Given the description of an element on the screen output the (x, y) to click on. 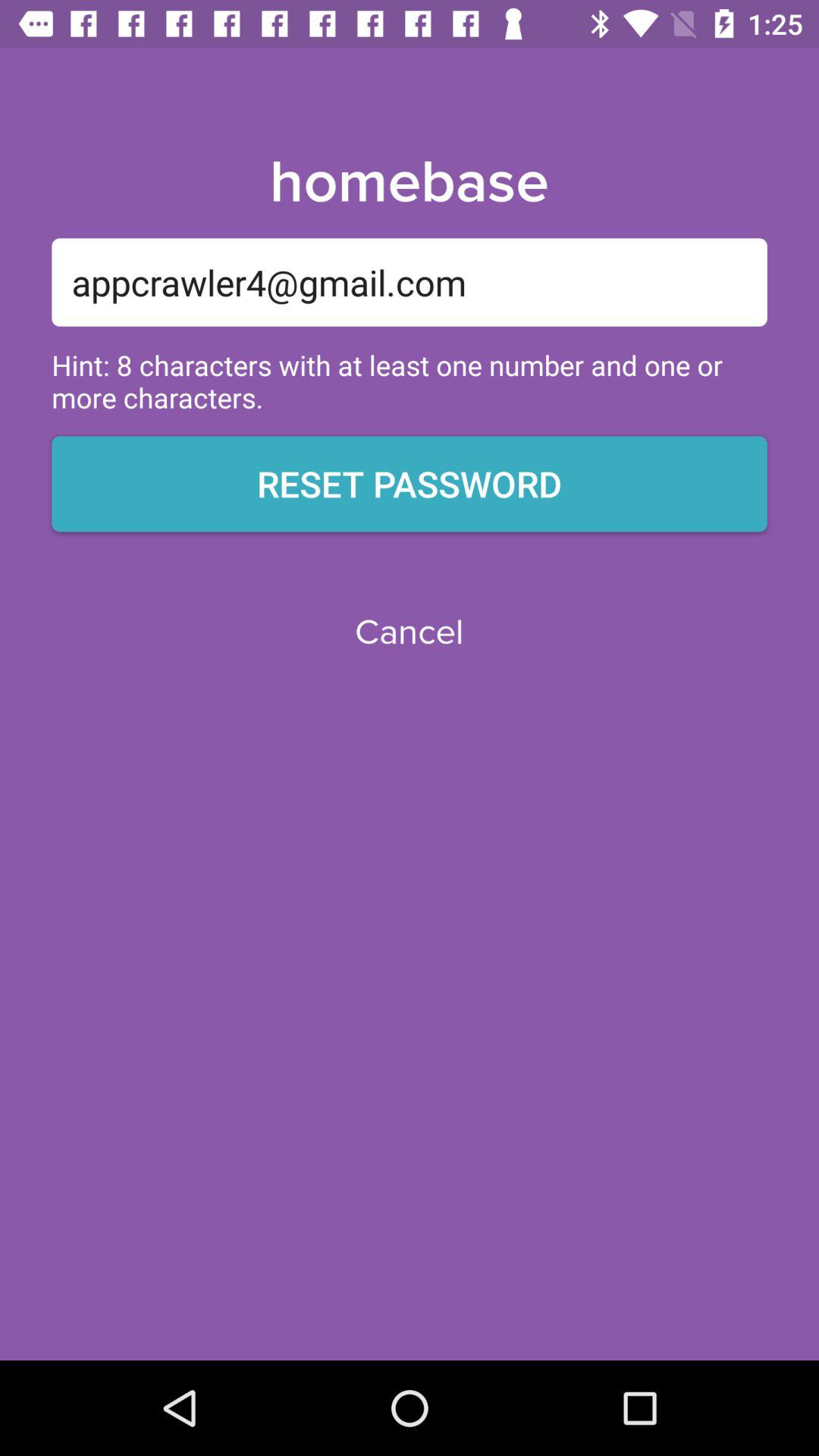
open the cancel (408, 632)
